Given the description of an element on the screen output the (x, y) to click on. 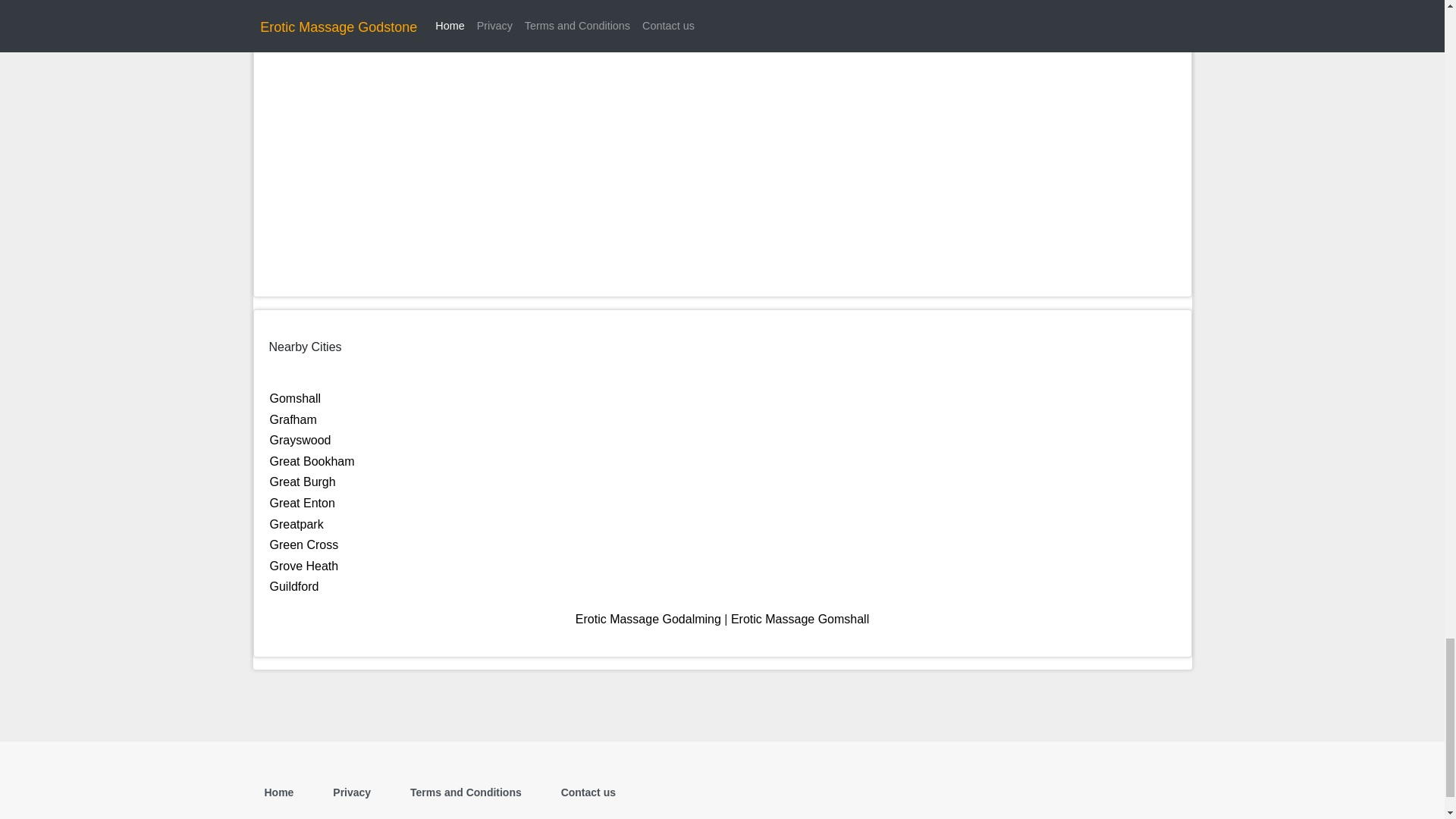
Grafham (293, 419)
Grove Heath (304, 565)
Greatpark (296, 523)
Green Cross (304, 544)
Gomshall (295, 398)
Great Burgh (302, 481)
Guildford (293, 585)
Great Enton (301, 502)
Erotic Massage Godalming (647, 618)
Grayswood (300, 440)
